Given the description of an element on the screen output the (x, y) to click on. 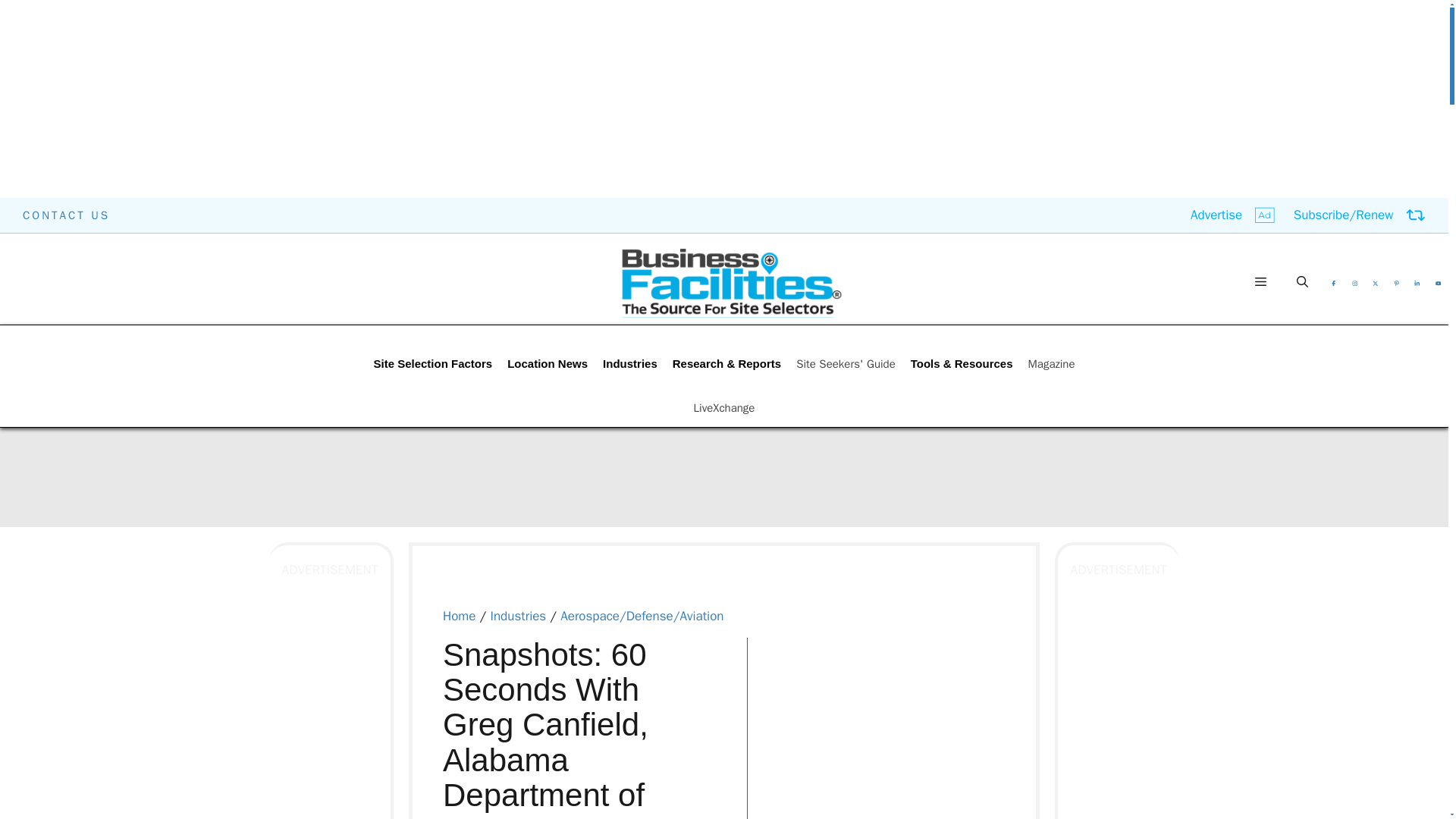
Business Facilities Magazine (731, 281)
Site Selection Factors (432, 364)
3rd party ad content (382, 269)
3rd party ad content (1079, 269)
CONTACT US (66, 214)
Advertise (1233, 215)
Location News (547, 364)
3rd party ad content (724, 777)
3rd party ad content (724, 477)
3rd party ad content (891, 732)
